Given the description of an element on the screen output the (x, y) to click on. 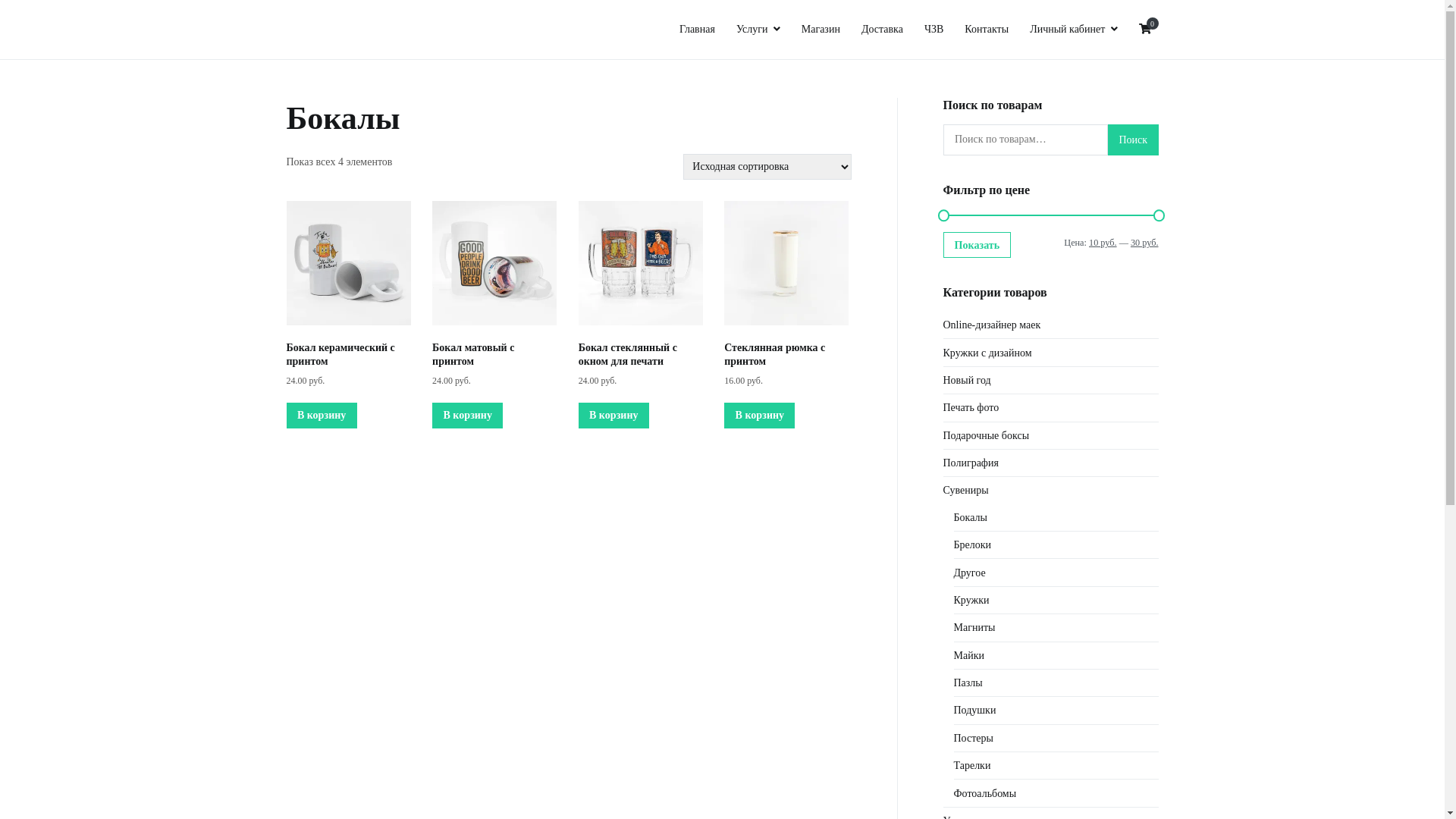
0 Element type: text (1145, 29)
